Given the description of an element on the screen output the (x, y) to click on. 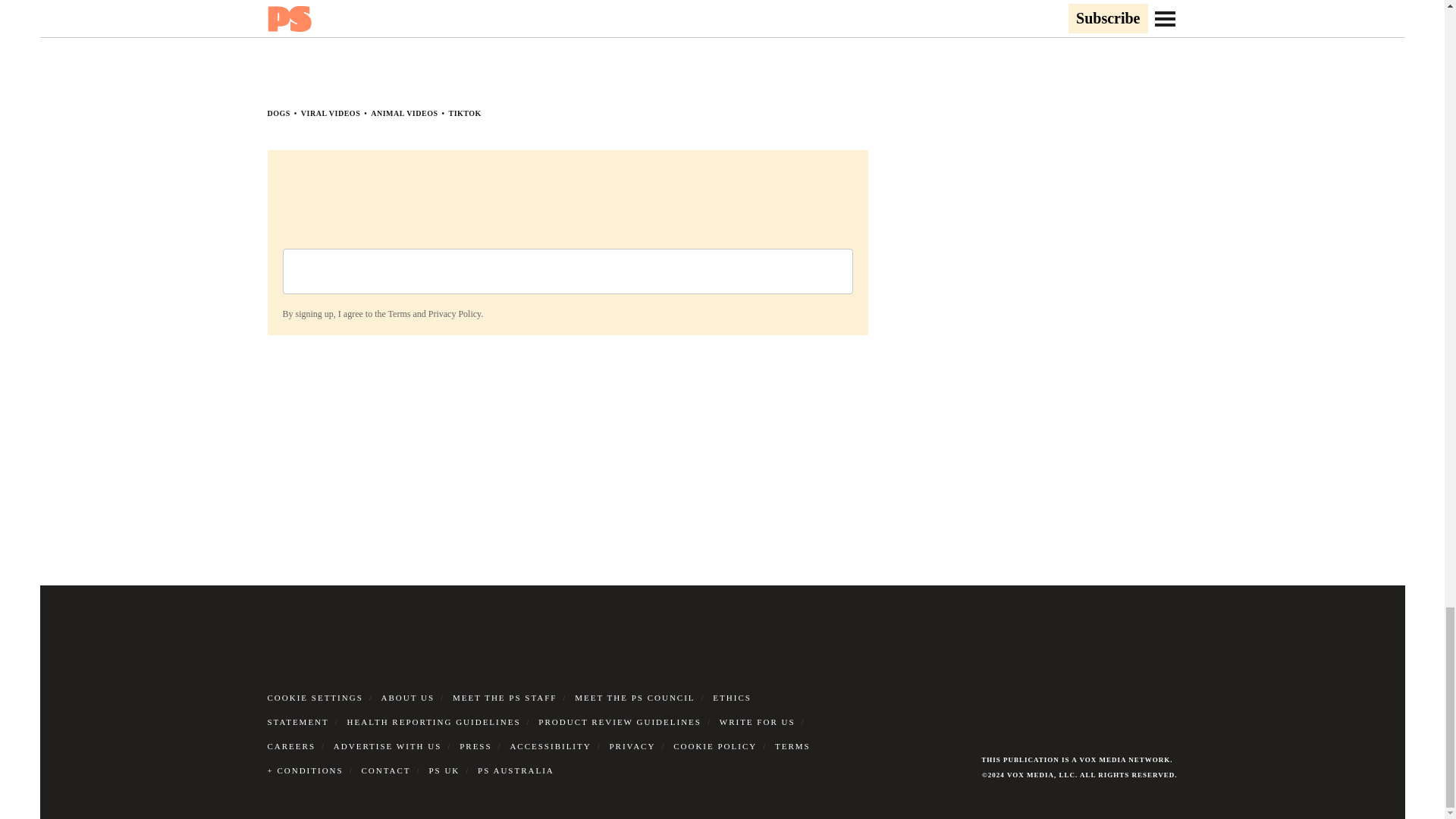
DOGS (277, 112)
ADVERTISE WITH US (387, 746)
ETHICS STATEMENT (508, 709)
VIRAL VIDEOS (330, 112)
PRIVACY (633, 746)
WRITE FOR US (756, 721)
HEALTH REPORTING GUIDELINES (434, 721)
Privacy Policy. (455, 313)
CAREERS (290, 746)
TIKTOK (464, 112)
